Given the description of an element on the screen output the (x, y) to click on. 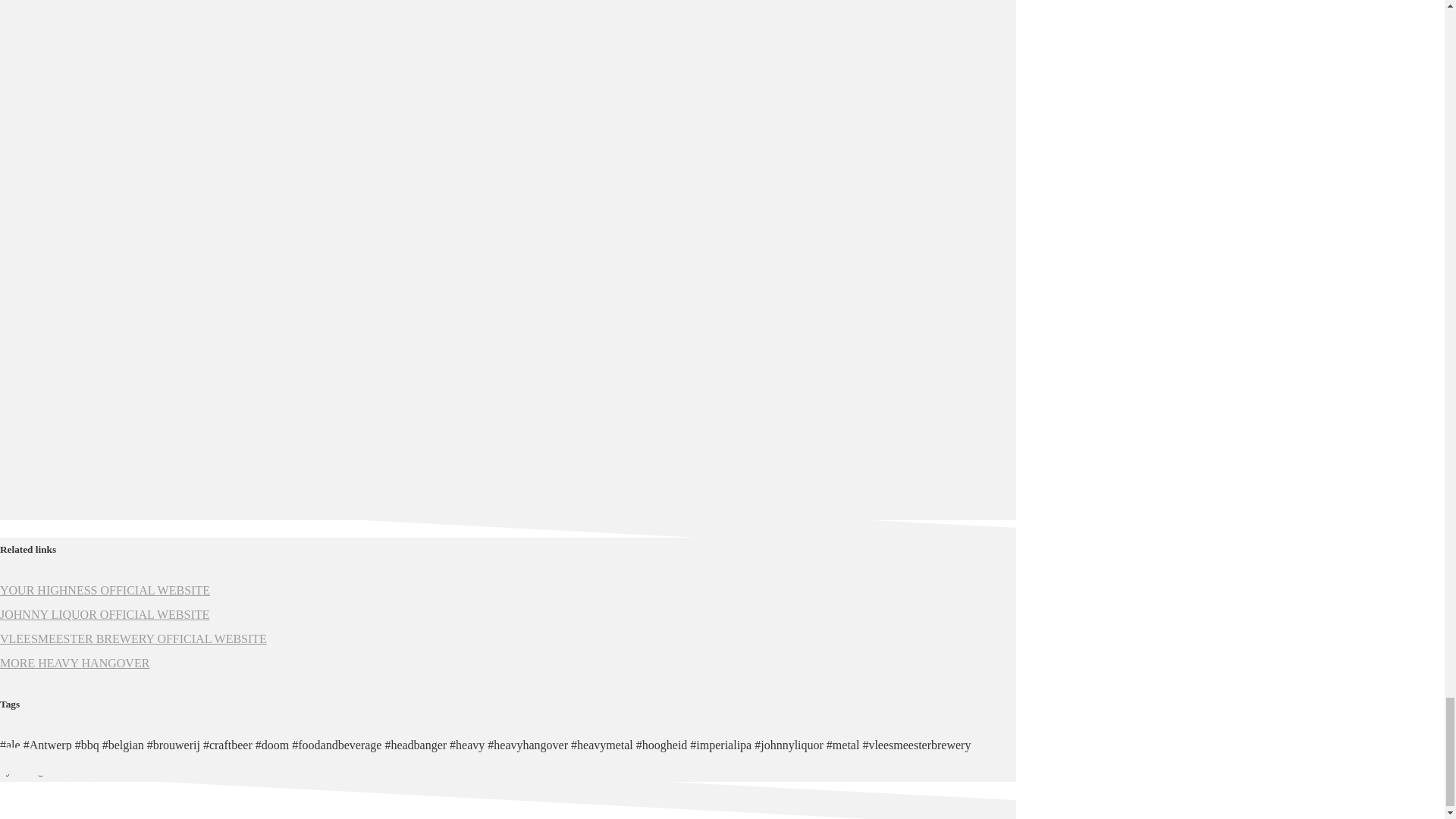
VLEESMEESTER BREWERY OFFICIAL WEBSITE (133, 638)
MORE HEAVY HANGOVER (74, 662)
YOUR HIGHNESS OFFICIAL WEBSITE (104, 590)
JOHNNY LIQUOR OFFICIAL WEBSITE (104, 614)
